Given the description of an element on the screen output the (x, y) to click on. 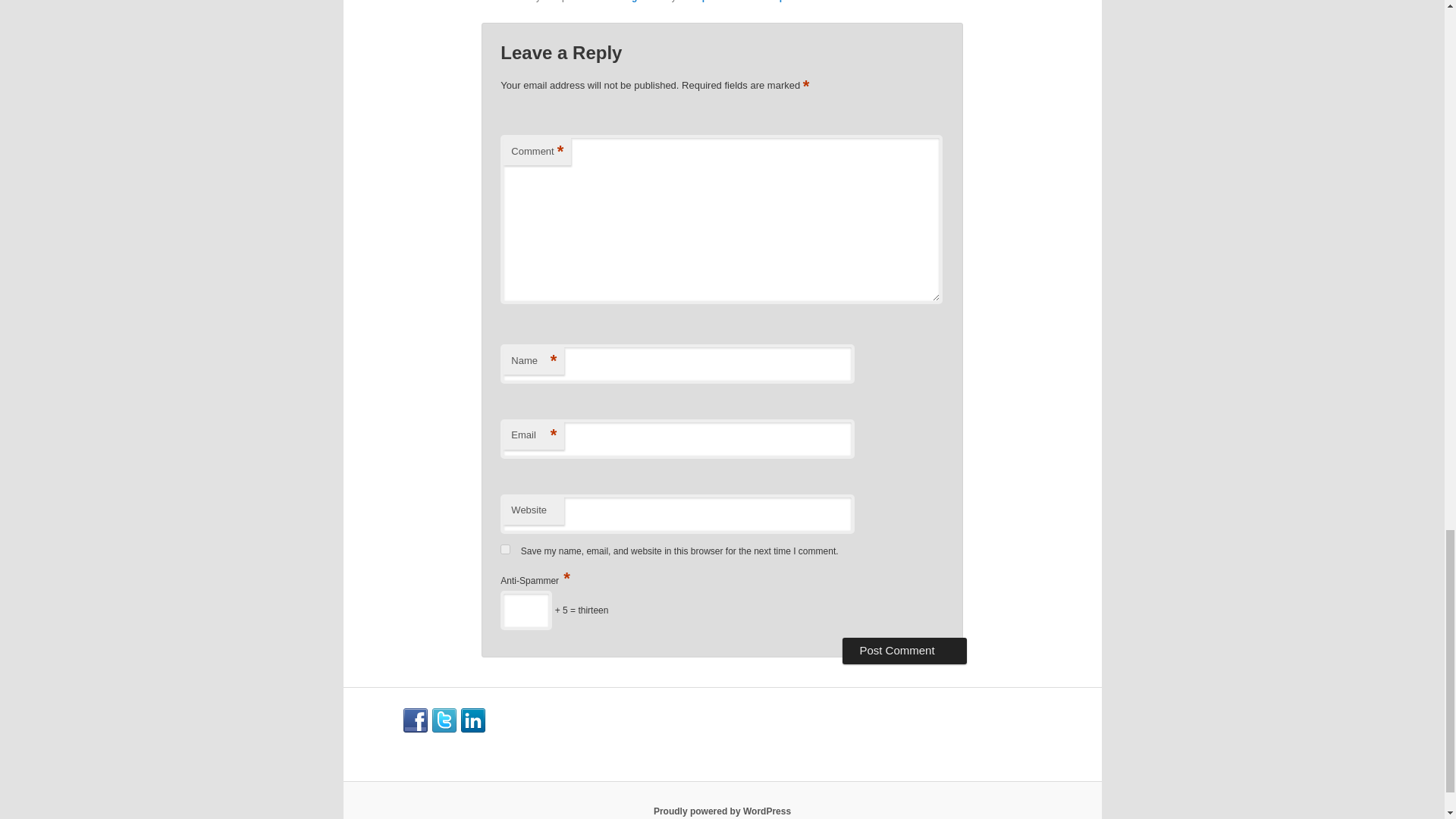
Uncategorized (632, 1)
Post Comment (904, 650)
Proudly powered by WordPress (721, 810)
linkedin (472, 720)
Semantic Personal Publishing Platform (721, 810)
yes (505, 549)
permalink (800, 1)
twitter (444, 720)
ahvispin (697, 1)
Post Comment (904, 650)
facebook (415, 720)
Permalink to Shutter the Thought! (800, 1)
